Given the description of an element on the screen output the (x, y) to click on. 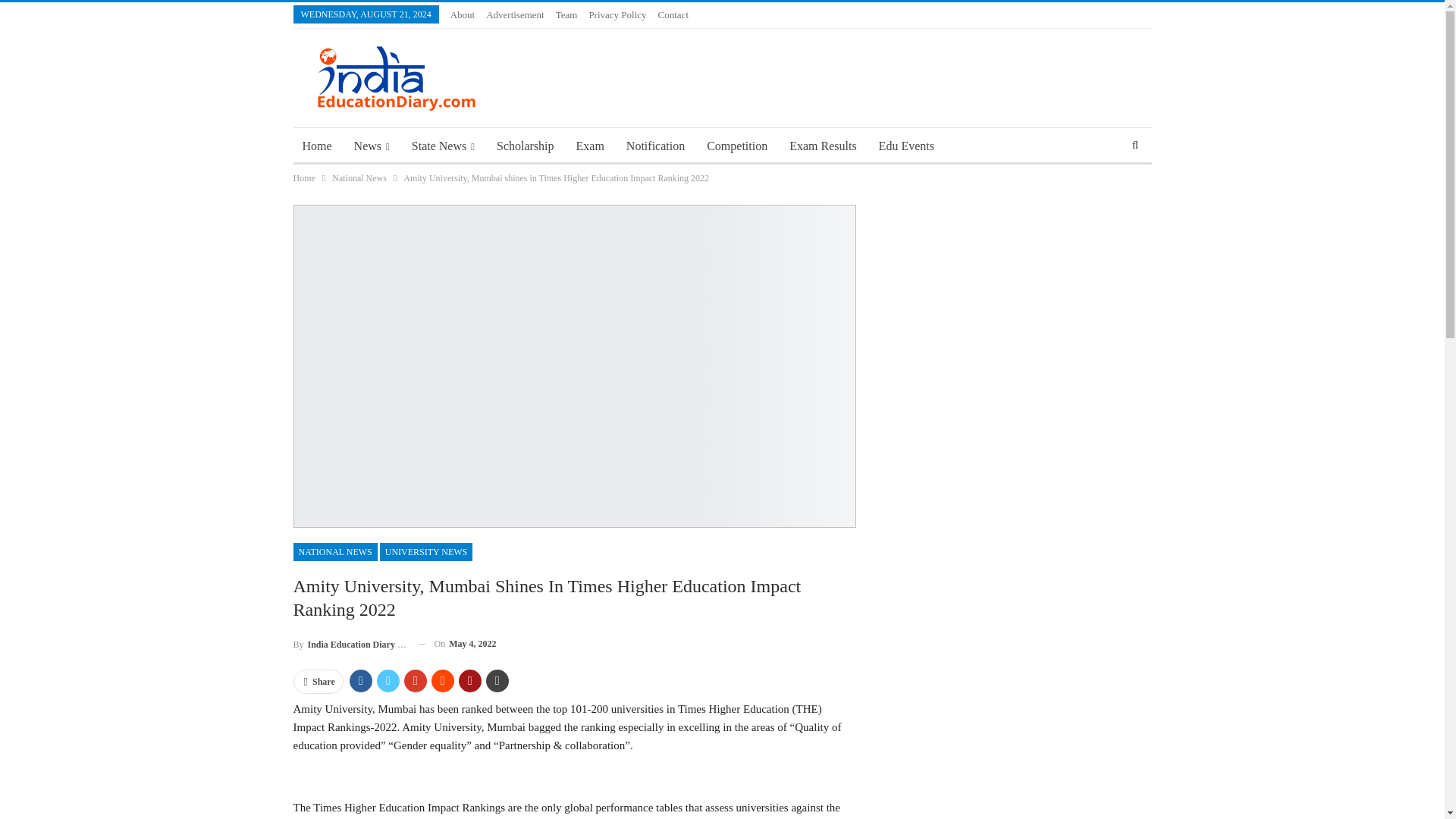
Team (567, 14)
Advertisement (515, 14)
Contact (673, 14)
State News (443, 145)
Privacy Policy (617, 14)
Home (316, 145)
Browse Author Articles (349, 643)
About (462, 14)
News (371, 145)
